Given the description of an element on the screen output the (x, y) to click on. 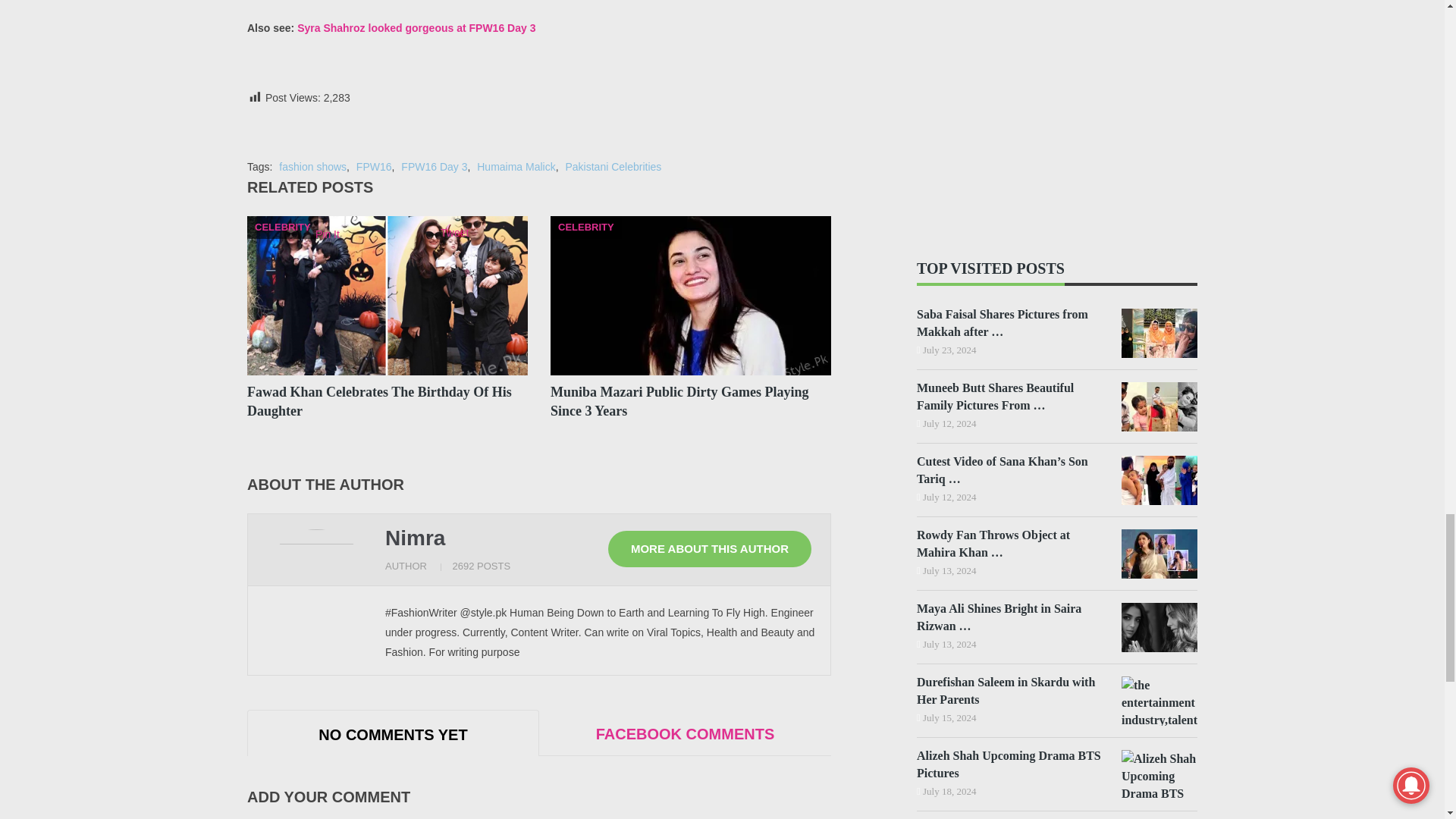
Fawad Khan Celebrates The Birthday Of His Daughter (379, 401)
Fawad Khan Celebrates The Birthday Of His Daughter (387, 295)
Muniba Mazari Public Dirty Games Playing Since 3 Years (690, 295)
Advertisement (539, 2)
Muniba Mazari Public Dirty Games Playing Since 3 Years (679, 401)
